Given the description of an element on the screen output the (x, y) to click on. 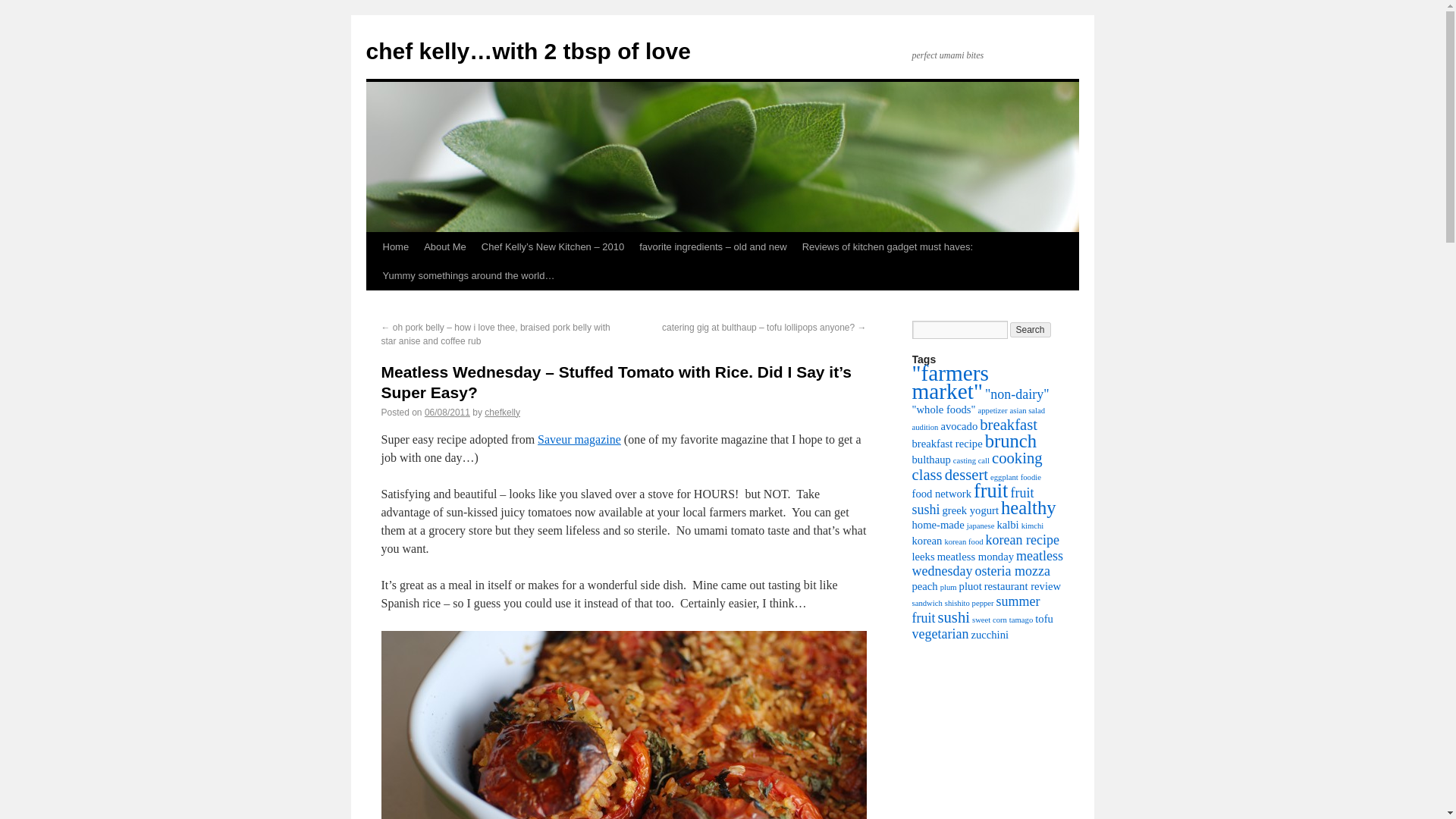
Saveur magazine (579, 439)
chefkelly (501, 412)
"farmers market" (949, 382)
Search (1030, 329)
Home (395, 246)
stuffed tomatoes (623, 724)
appetizer (992, 410)
"non-dairy" (1017, 394)
avocado (958, 426)
audition (924, 427)
